Given the description of an element on the screen output the (x, y) to click on. 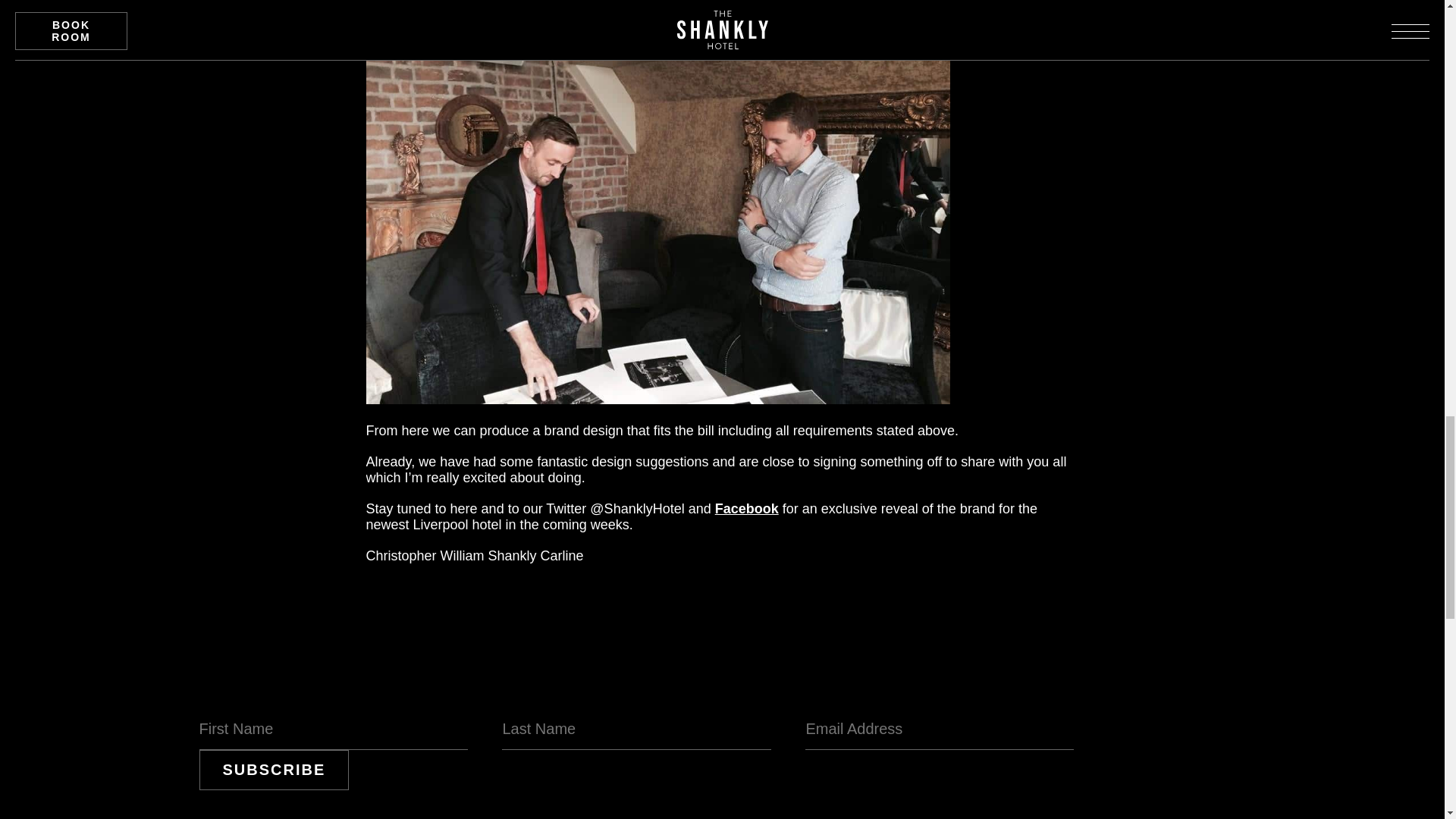
Facebook (746, 507)
SUBSCRIBE (273, 769)
